Given the description of an element on the screen output the (x, y) to click on. 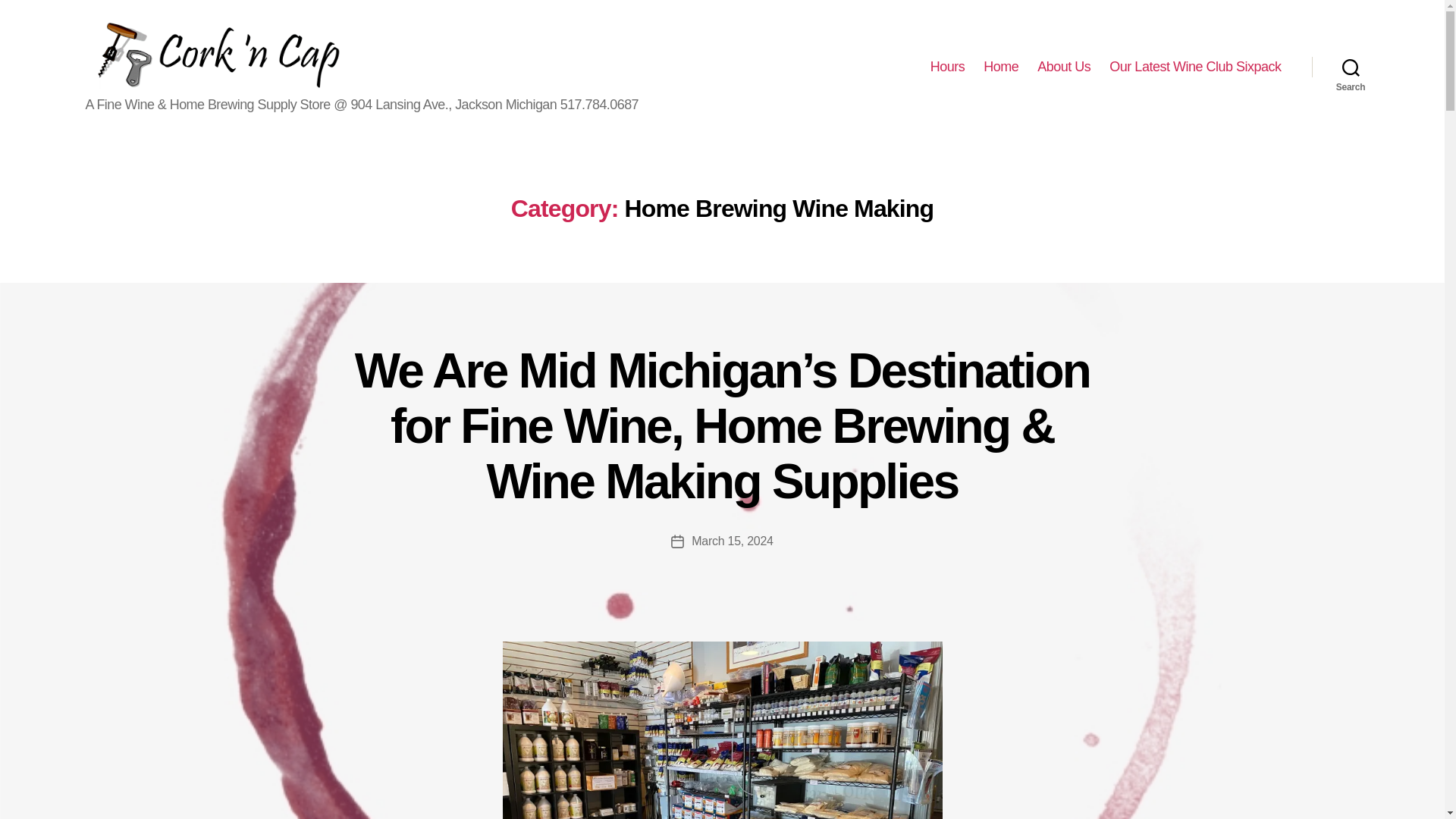
March 15, 2024 (732, 540)
Home (1000, 67)
Our Latest Wine Club Sixpack (1195, 67)
Search (1350, 66)
About Us (1063, 67)
Hours (947, 67)
